Given the description of an element on the screen output the (x, y) to click on. 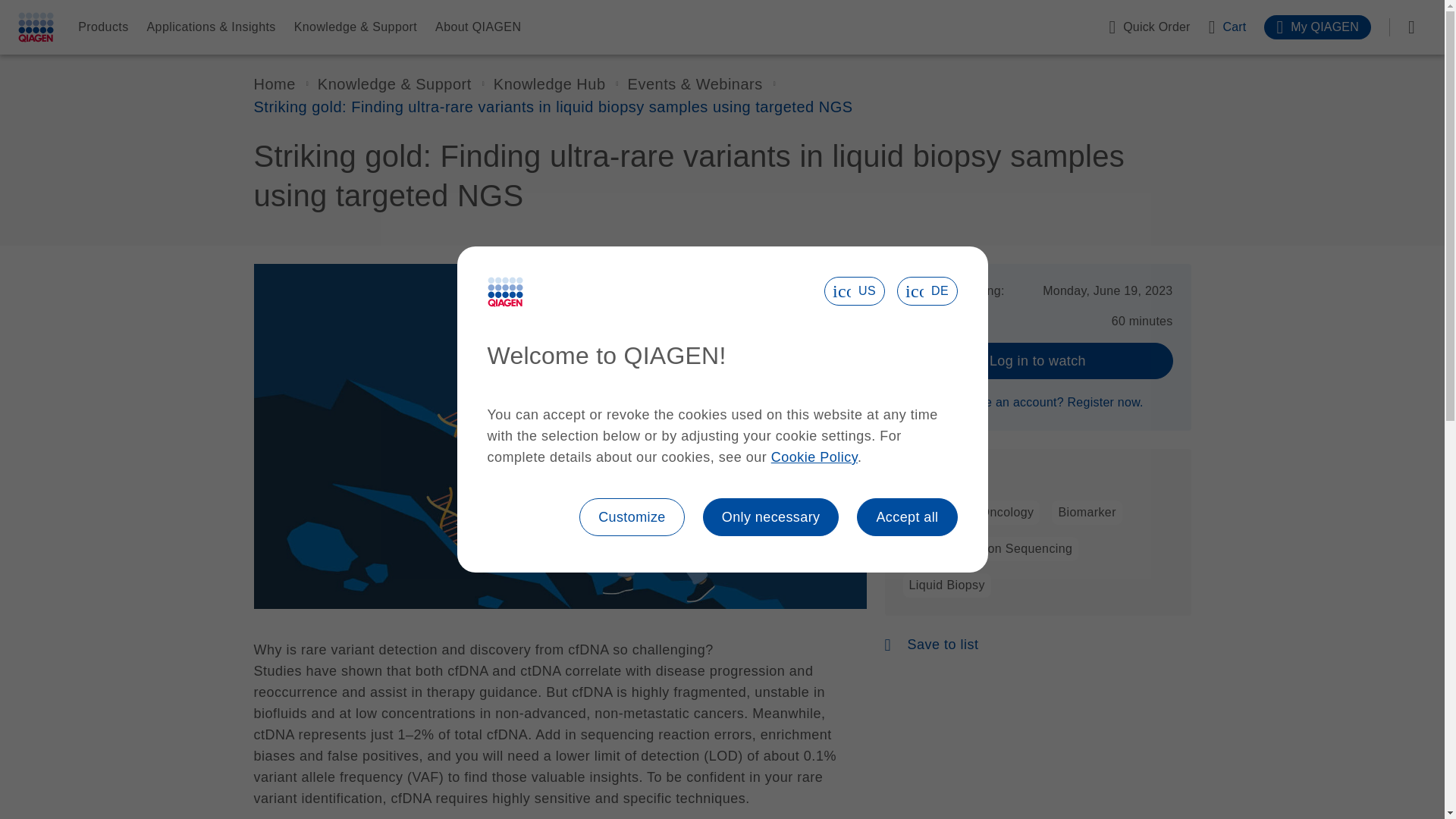
Knowledge and Support (394, 84)
About QIAGEN (478, 27)
Products (103, 27)
My QIAGEN (1317, 27)
Products (103, 27)
Only necessary (771, 516)
Home (274, 84)
About QIAGEN (478, 27)
Cart (1227, 27)
Quick Order (1148, 27)
